Given the description of an element on the screen output the (x, y) to click on. 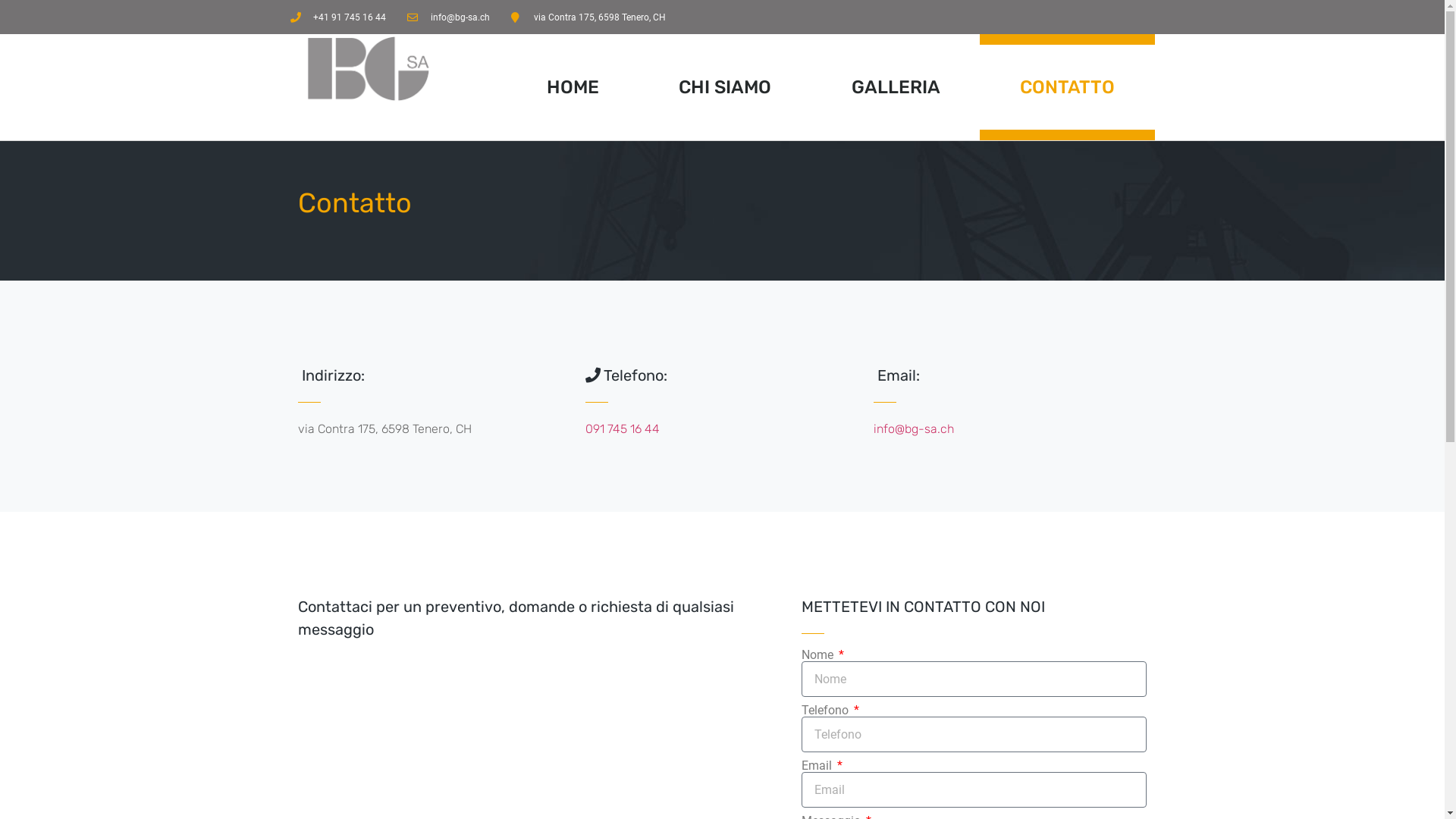
GALLERIA Element type: text (895, 87)
CONTATTO Element type: text (1066, 87)
CHI SIAMO Element type: text (725, 87)
HOME Element type: text (572, 87)
info@bg-sa.ch Element type: text (448, 17)
091 745 16 44 Element type: text (622, 428)
+41 91 745 16 44 Element type: text (337, 17)
info@bg-sa.ch Element type: text (913, 428)
